Given the description of an element on the screen output the (x, y) to click on. 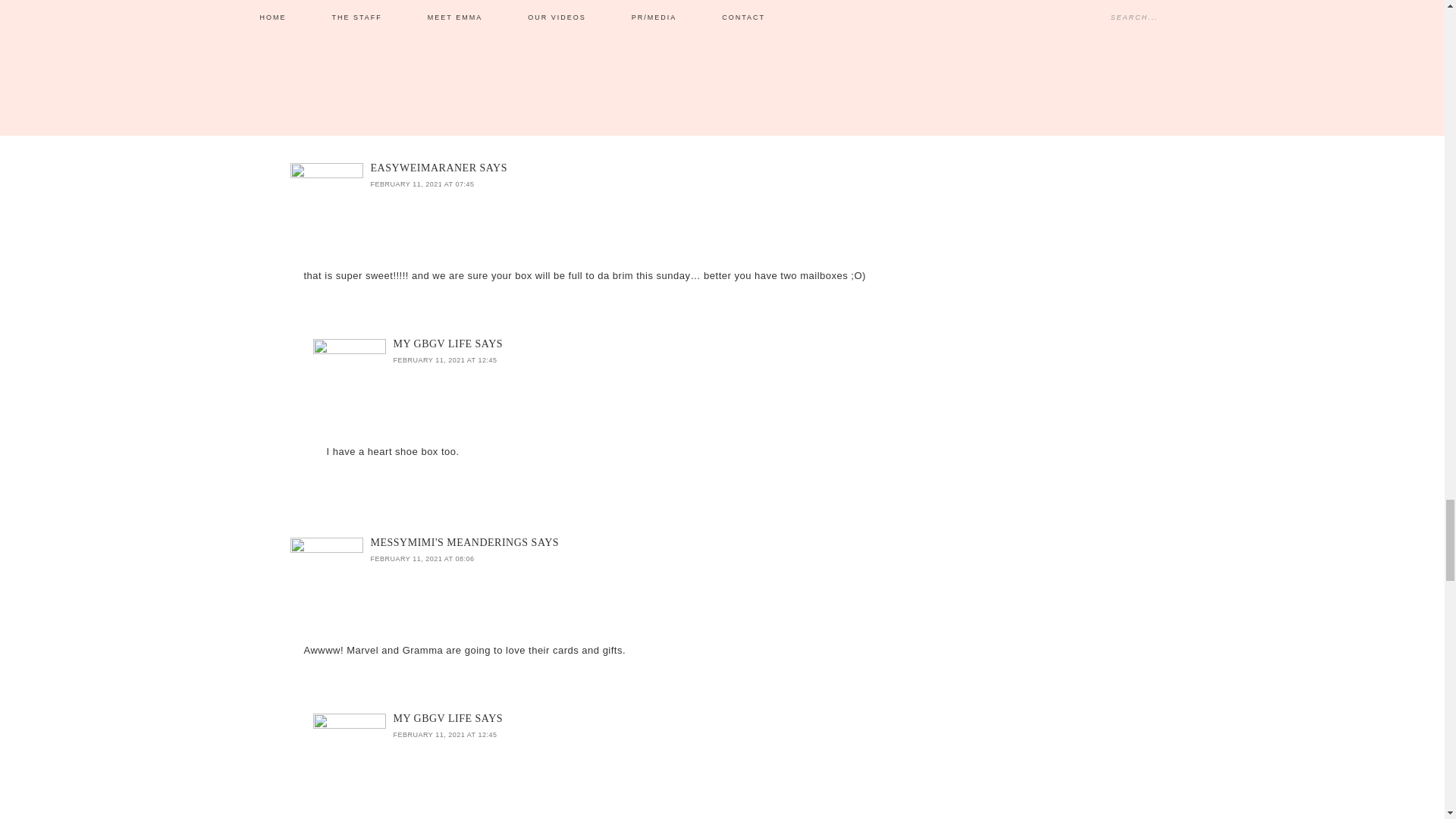
FEBRUARY 11, 2021 AT 07:45 (421, 184)
EASYWEIMARANER (422, 167)
MESSYMIMI'S MEANDERINGS (448, 542)
FEBRUARY 11, 2021 AT 08:06 (421, 558)
FEBRUARY 11, 2021 AT 12:45 (444, 734)
FEBRUARY 11, 2021 AT 12:45 (444, 359)
